Given the description of an element on the screen output the (x, y) to click on. 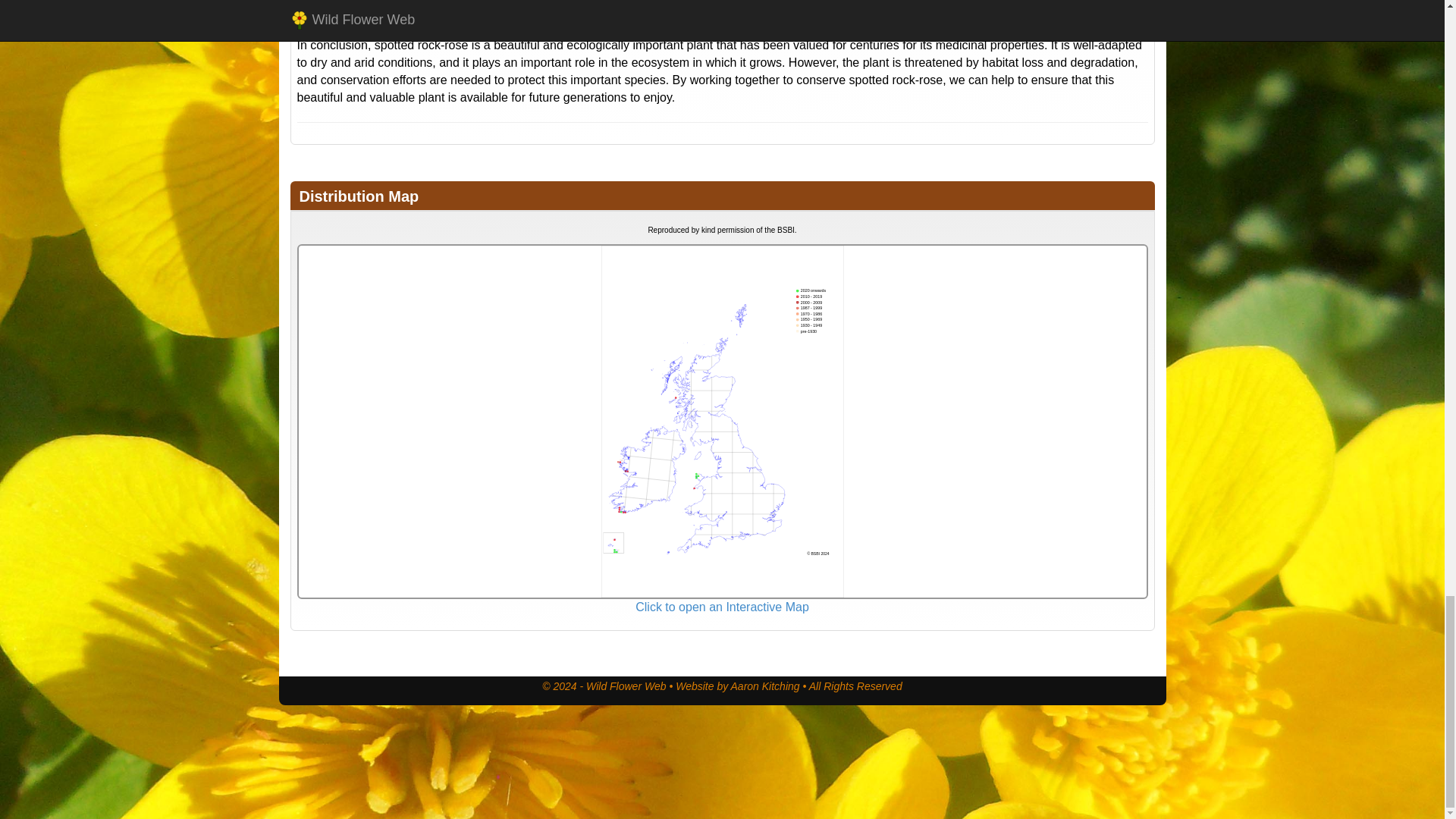
Click to open an Interactive Map (721, 606)
